Given the description of an element on the screen output the (x, y) to click on. 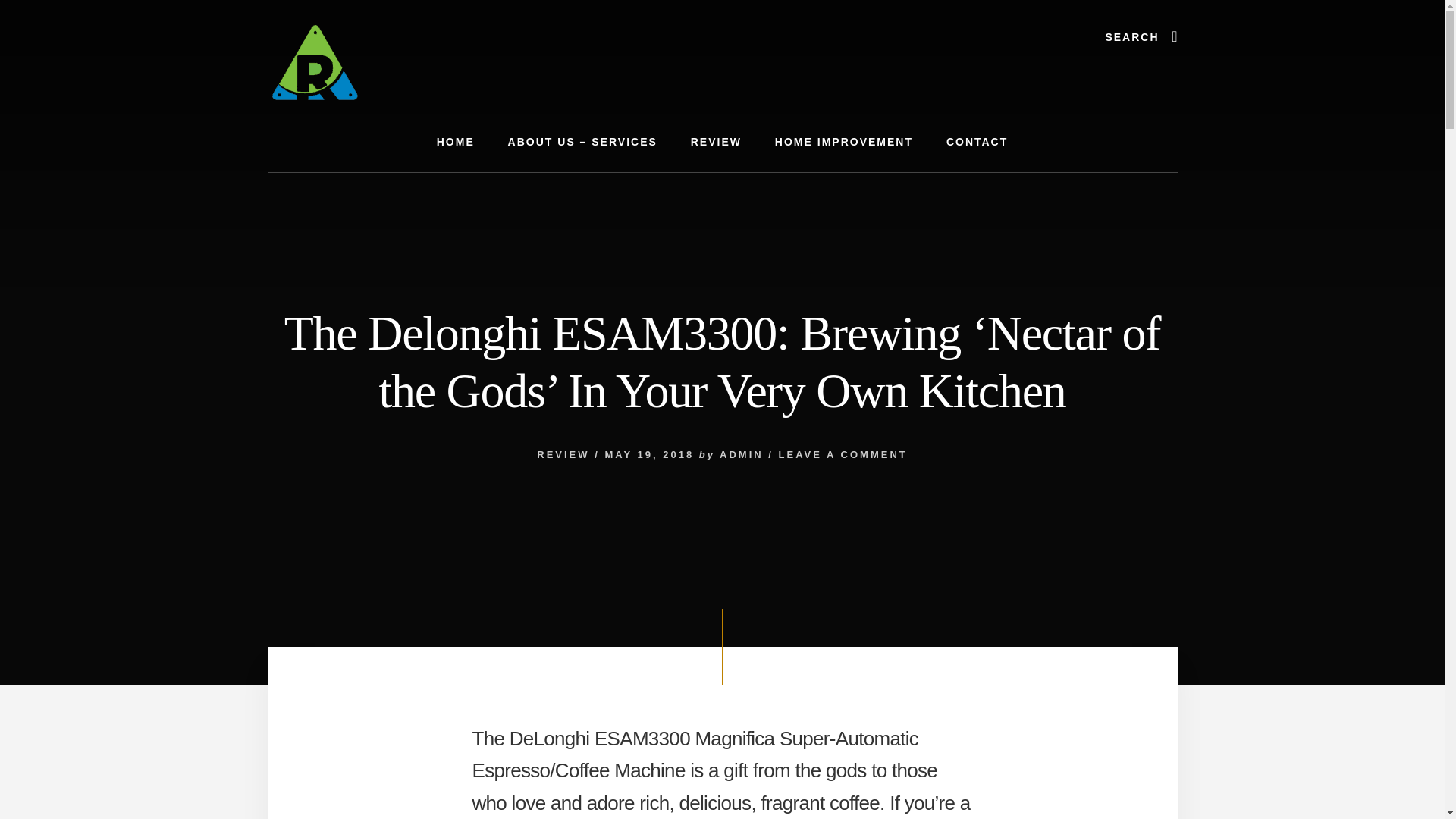
CONTACT (977, 141)
ADMIN (740, 454)
REVIEW (716, 141)
LEAVE A COMMENT (842, 454)
HOME IMPROVEMENT (844, 141)
REVIEW (563, 454)
HOME (455, 141)
